Given the description of an element on the screen output the (x, y) to click on. 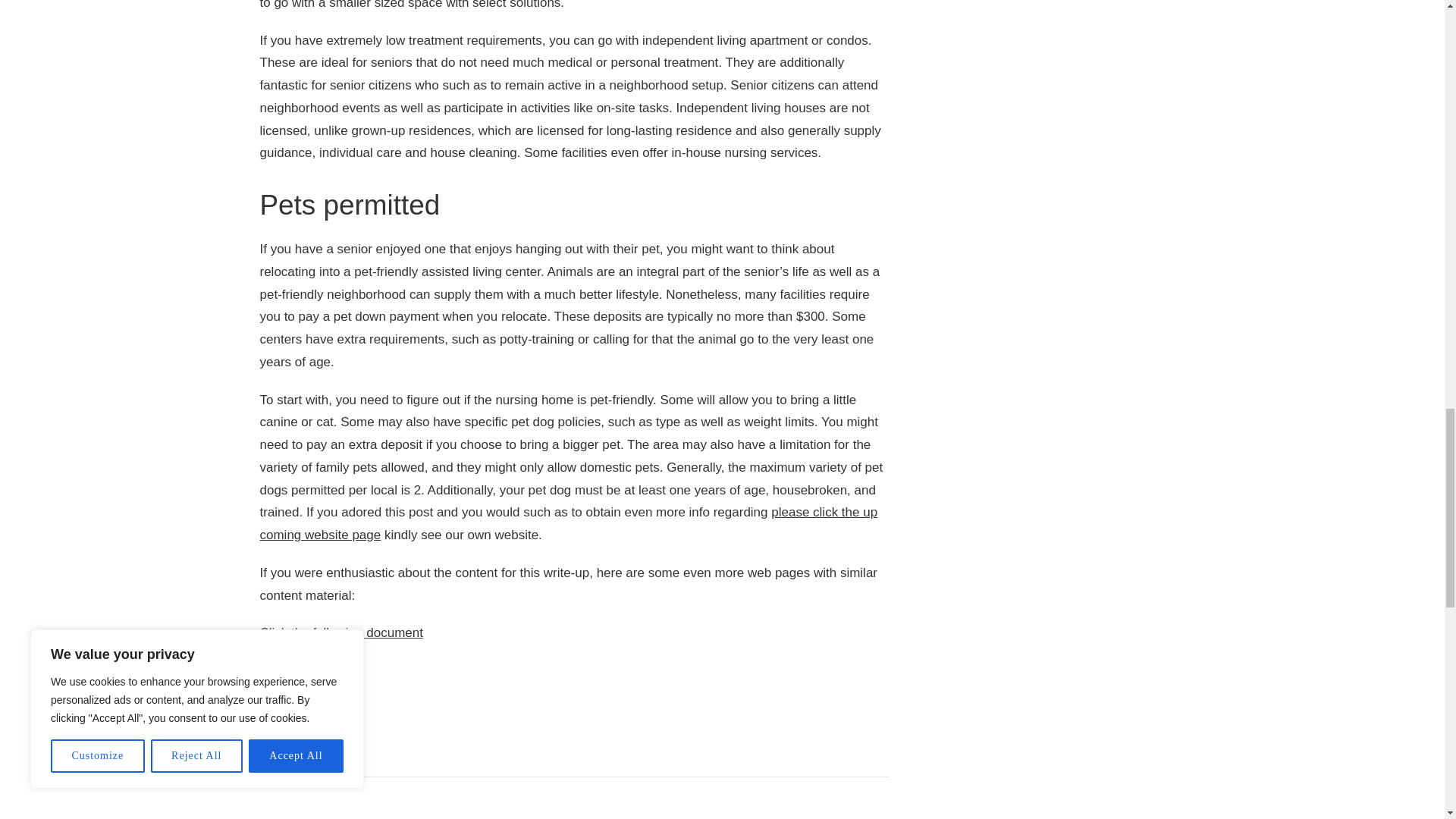
IDEAL (286, 716)
please click the up coming website page (568, 523)
Click the following document (340, 632)
killer deal (286, 670)
